Given the description of an element on the screen output the (x, y) to click on. 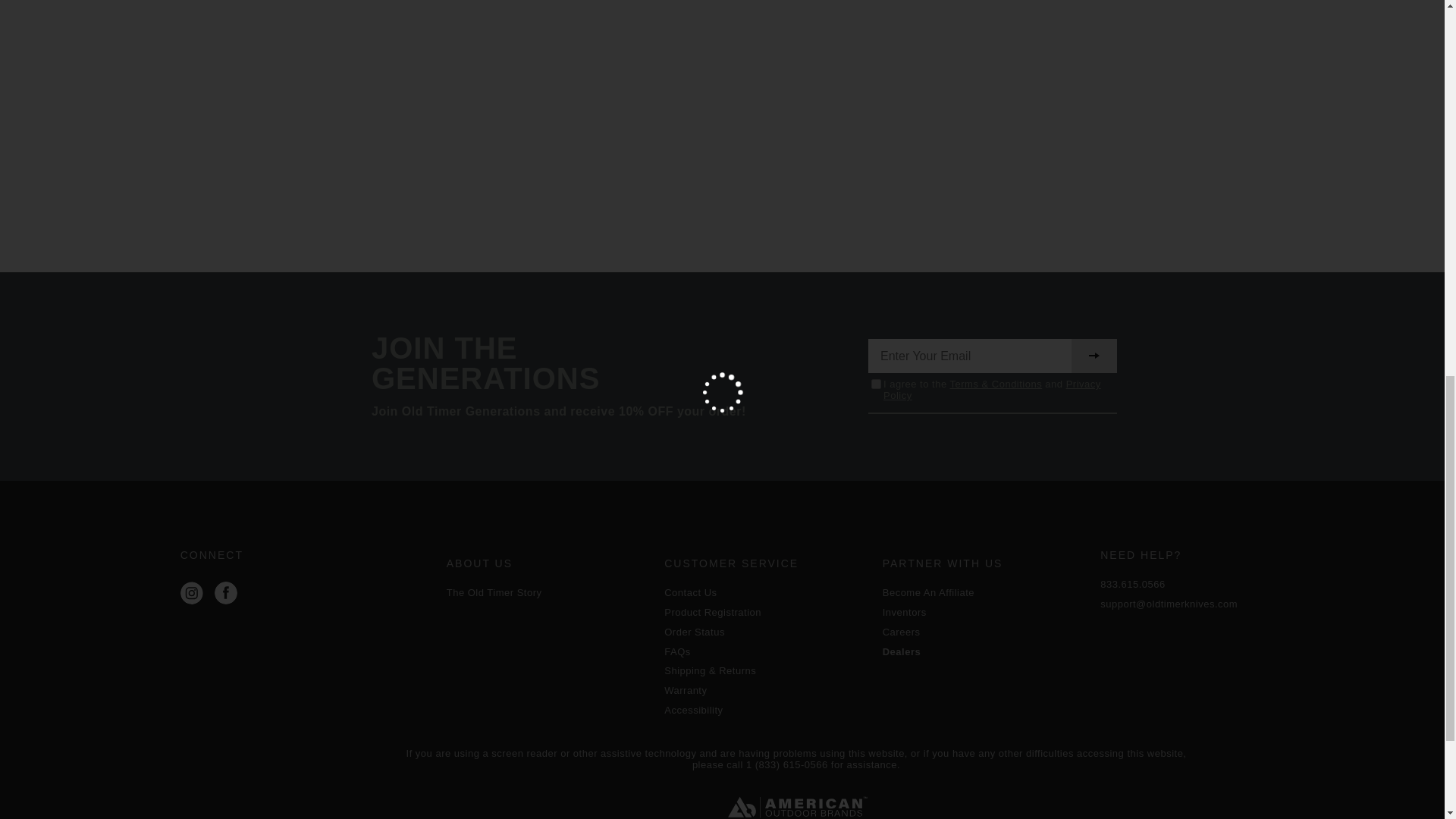
CUSTOMER SERVICE (765, 563)
Product Registration (765, 612)
ABOUT US (547, 563)
The Old Timer Story (547, 592)
FAQs (765, 651)
SUBSCRIBE (1093, 356)
Privacy Policy (991, 389)
Order Status (765, 632)
on (875, 384)
Contact Us (765, 592)
